Given the description of an element on the screen output the (x, y) to click on. 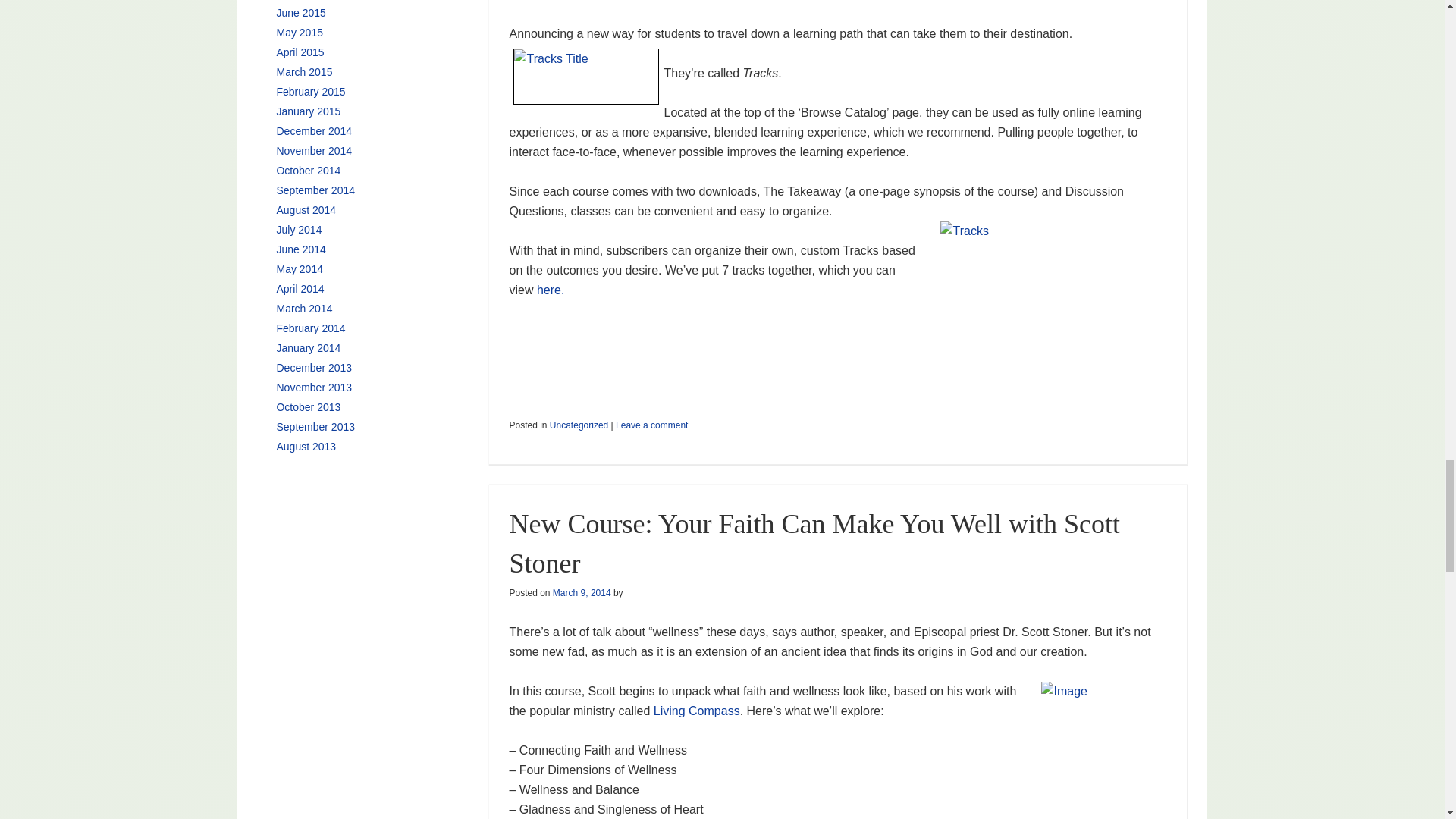
5:00 am (582, 593)
